Given the description of an element on the screen output the (x, y) to click on. 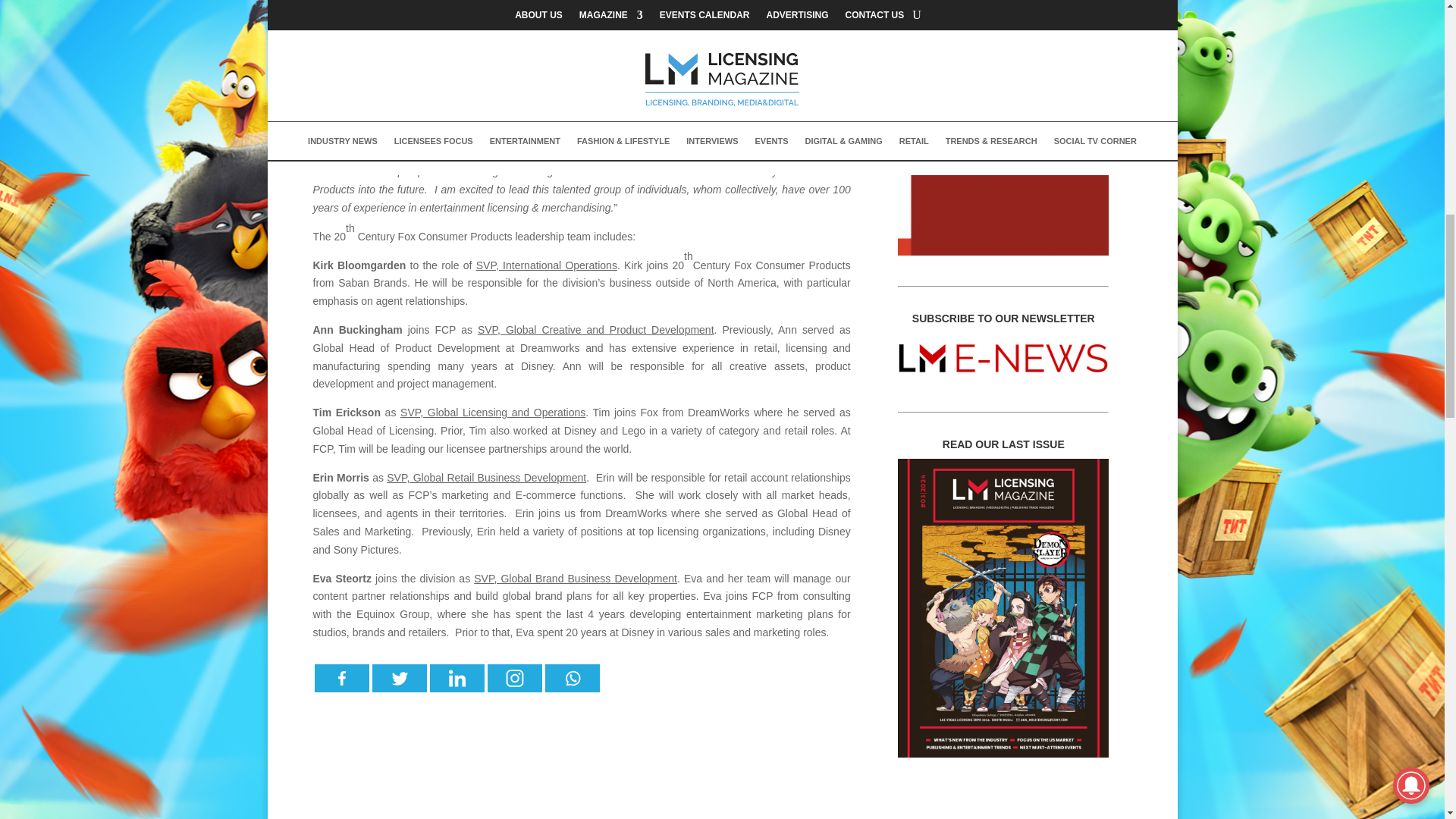
Subscribe to our newsletter (1003, 357)
Facebook (341, 678)
Instagram (513, 678)
Linkedin (456, 678)
Whatsapp (571, 678)
Twitter (398, 678)
